Given the description of an element on the screen output the (x, y) to click on. 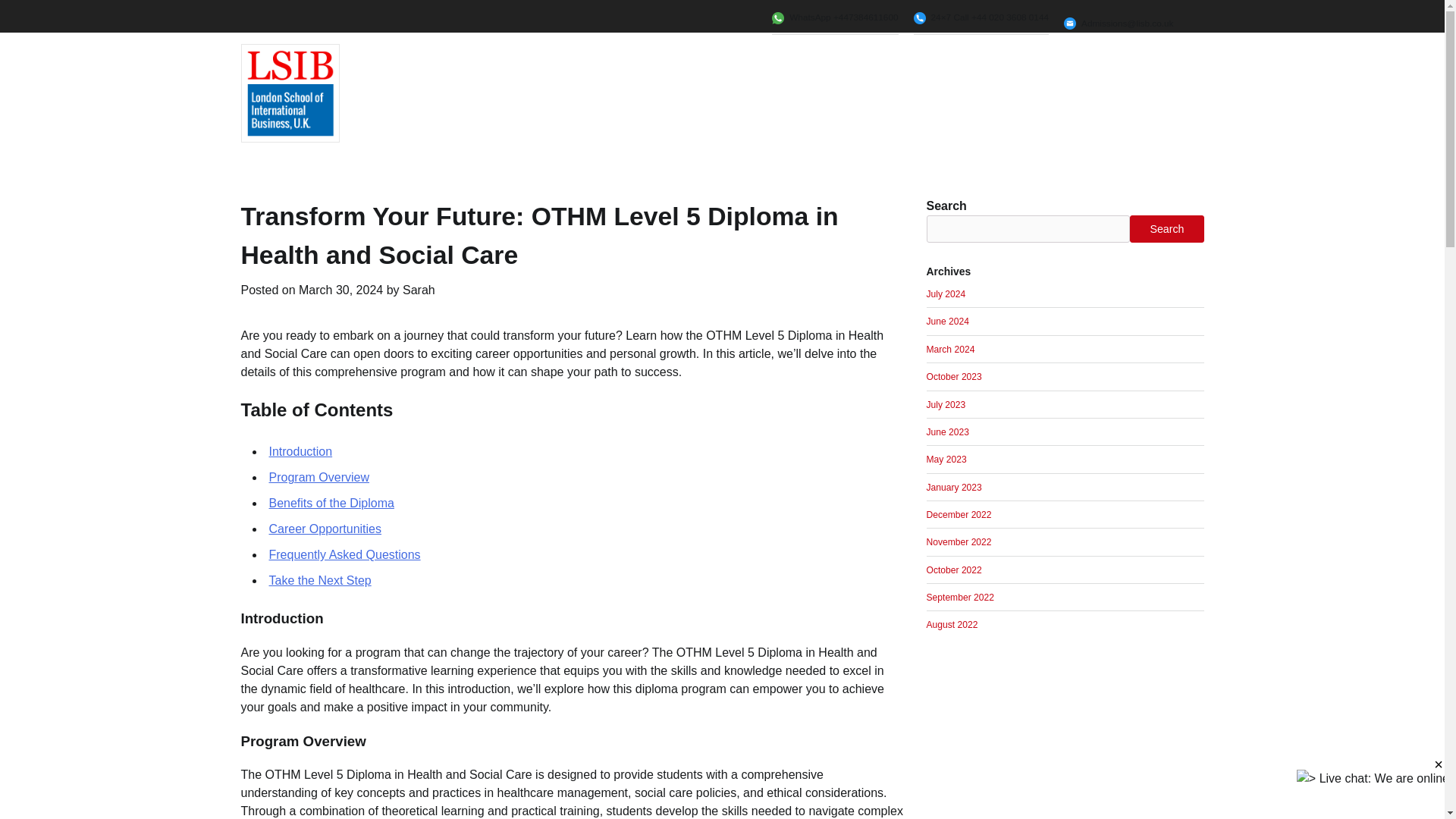
Introduction (299, 451)
May 2023 (946, 459)
Benefits of the Diploma (330, 502)
Career Opportunities (324, 528)
Sarah (419, 289)
June 2024 (947, 321)
July 2024 (946, 294)
October 2023 (953, 376)
Program Overview (317, 477)
January 2023 (953, 487)
Take the Next Step (319, 580)
March 2024 (950, 348)
July 2023 (946, 404)
June 2023 (947, 431)
Search (1166, 228)
